Given the description of an element on the screen output the (x, y) to click on. 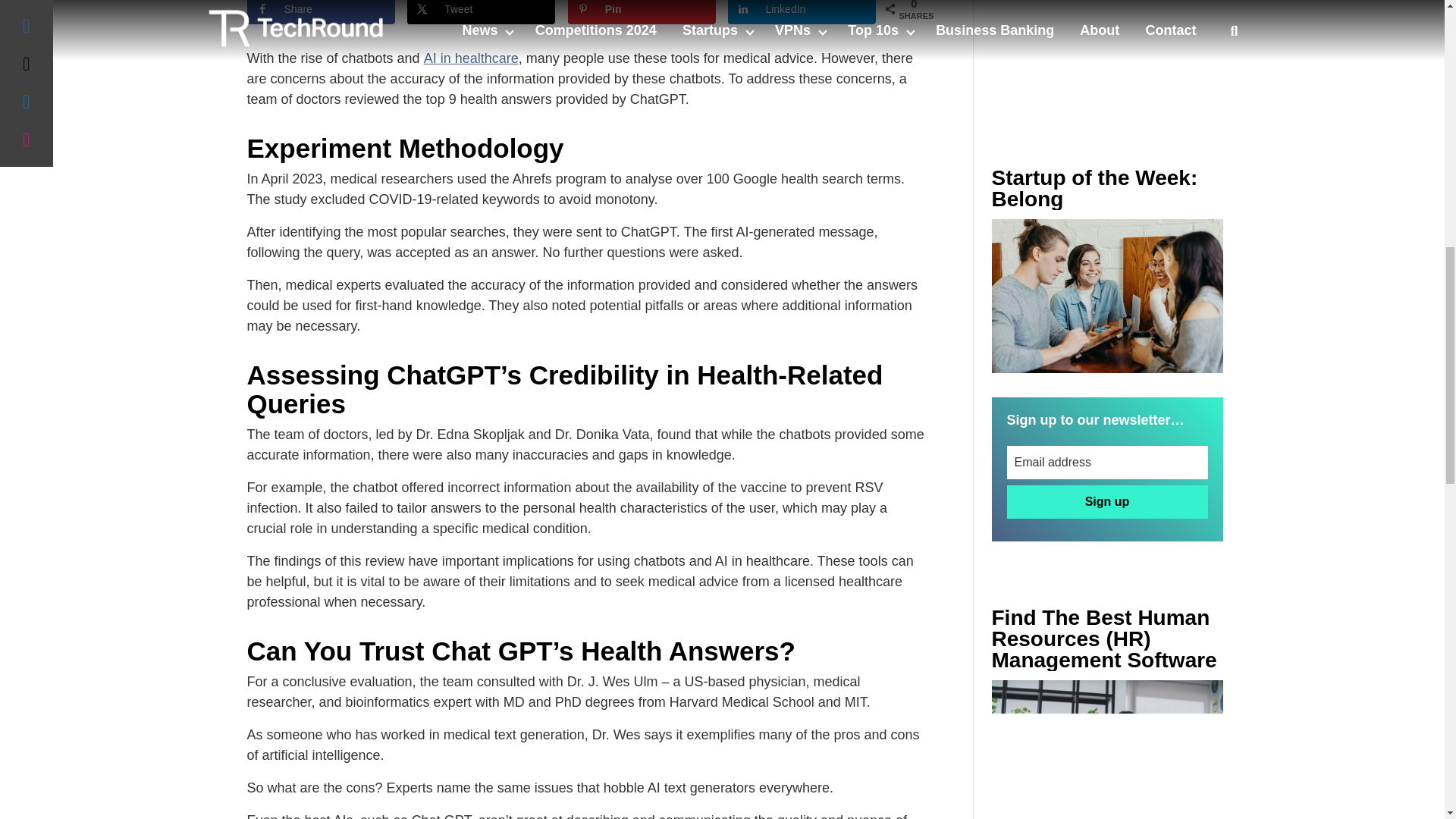
Enter The BAME Top 50 Entrepreneurs - Deadline 10th Nov 2021 (1107, 749)
Save to Pinterest (641, 12)
Advertisement (1107, 53)
Startup of the Week: Neon Link (1107, 296)
Share on LinkedIn (802, 12)
Share on Facebook (320, 12)
Sign up (1107, 501)
Share on X (480, 12)
